Given the description of an element on the screen output the (x, y) to click on. 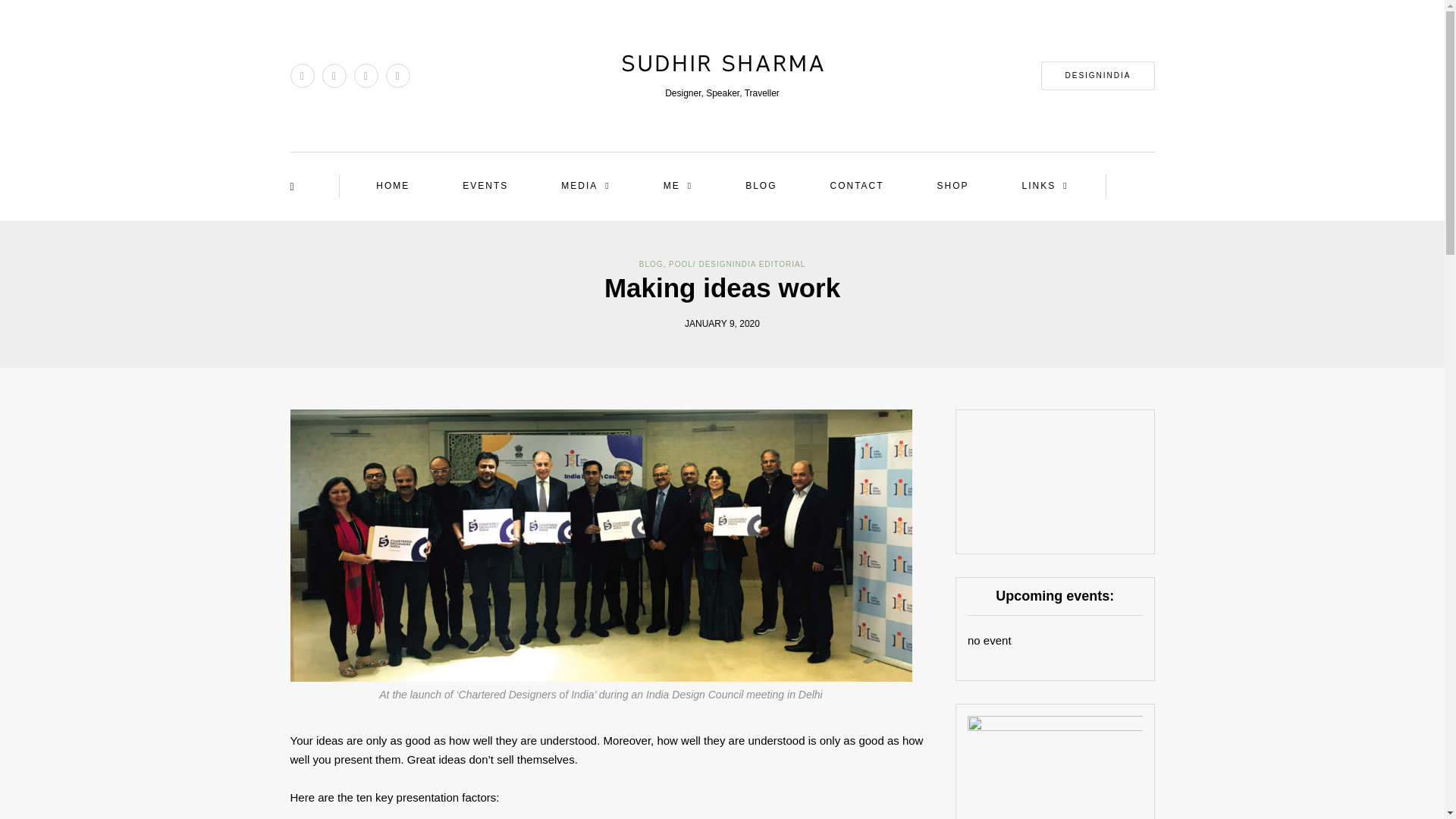
DESIGNINDIA (1097, 75)
CONTACT (855, 186)
EVENTS (485, 186)
BLOG (651, 264)
BLOG (760, 186)
HOME (392, 186)
LINKS (1044, 186)
SHOP (952, 186)
ME (677, 186)
MEDIA (584, 186)
